Given the description of an element on the screen output the (x, y) to click on. 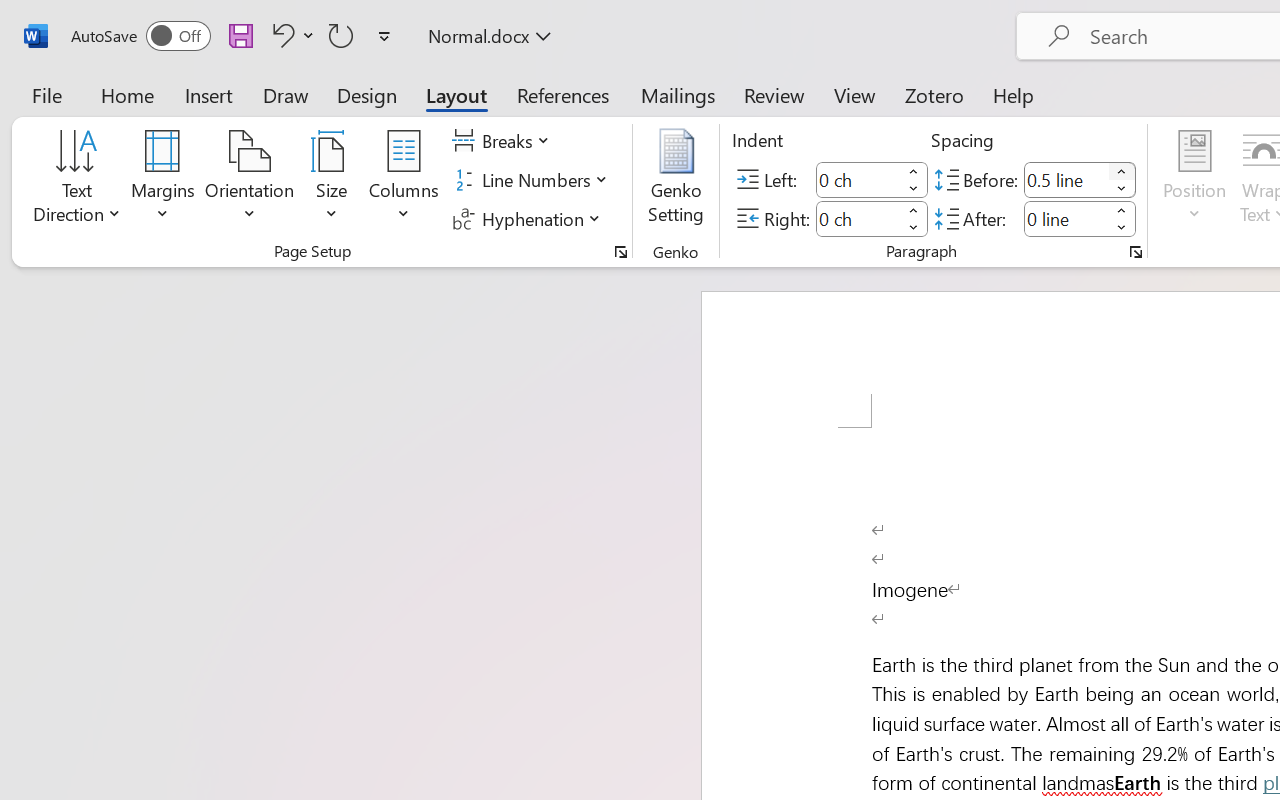
Hyphenation (529, 218)
More (1121, 210)
Undo Paragraph Formatting (290, 35)
Repeat Paragraph Formatting (341, 35)
Indent Right (858, 218)
Indent Left (858, 179)
Breaks (504, 141)
Size (331, 179)
Page Setup... (621, 252)
